Given the description of an element on the screen output the (x, y) to click on. 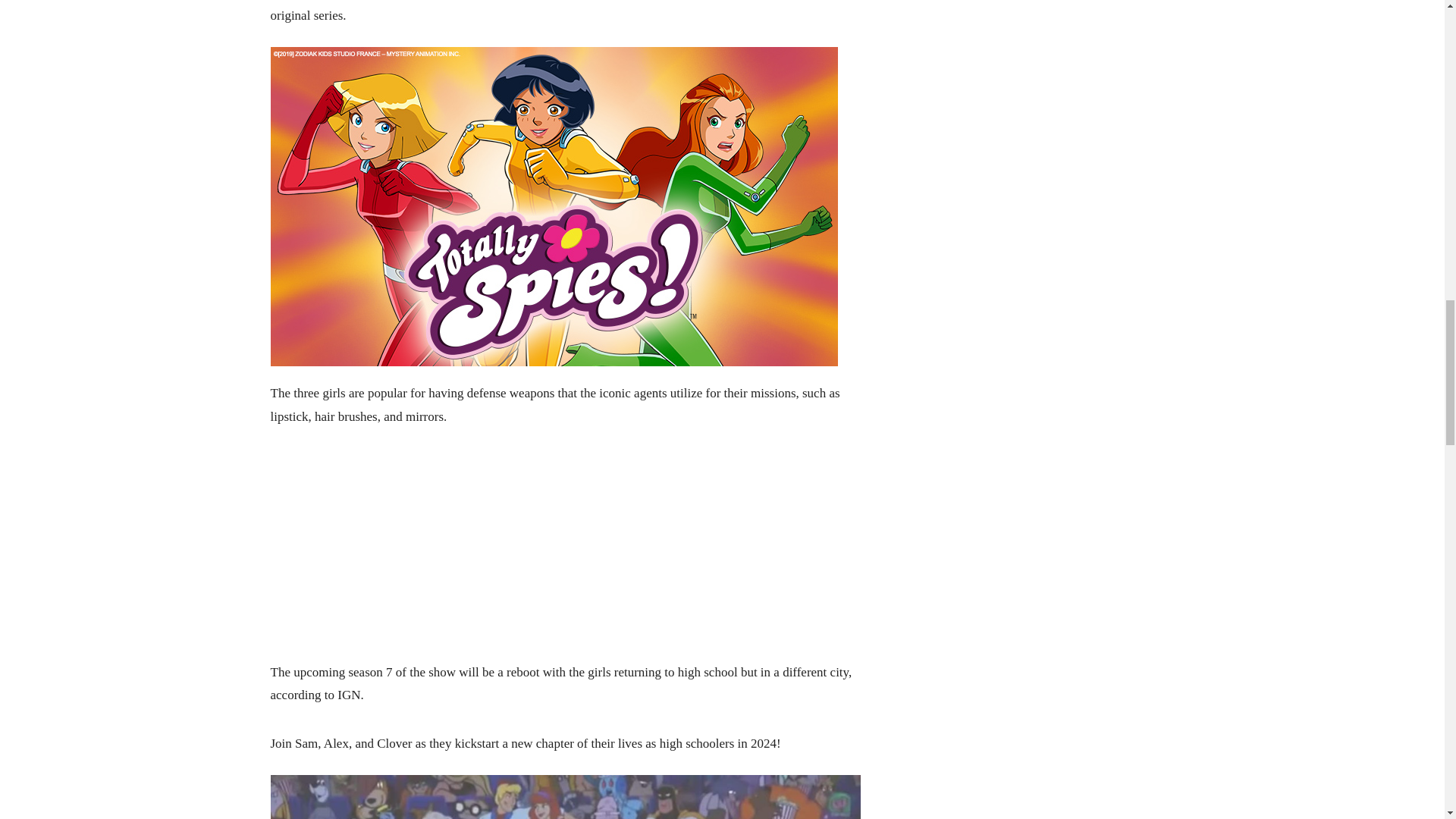
Advertisement (564, 554)
